Given the description of an element on the screen output the (x, y) to click on. 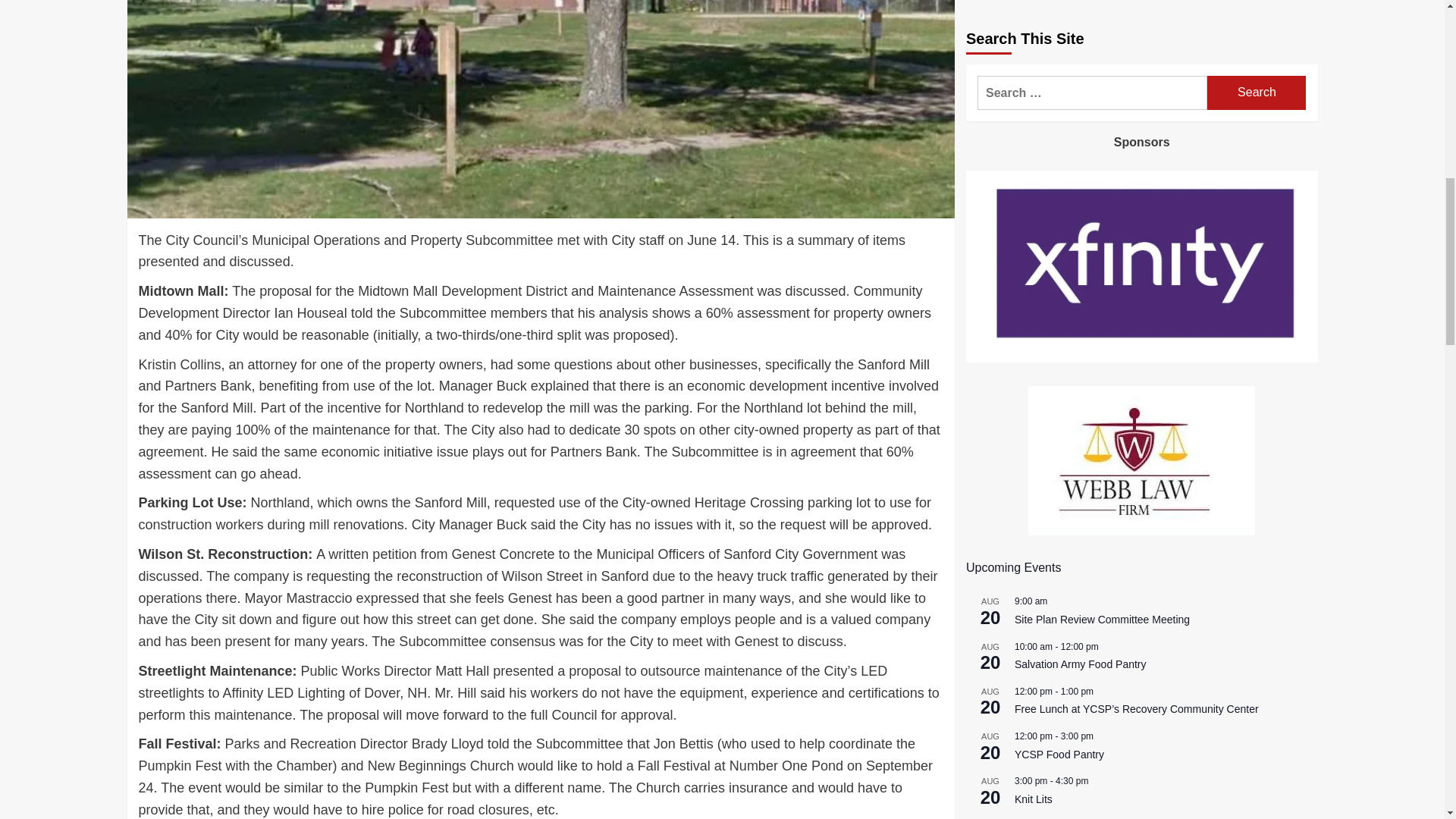
YCSP Food Pantry (1058, 291)
View more events. (1000, 368)
Site Plan Review Committee Meeting (1101, 155)
Knit Lits (1033, 336)
Salvation Army Food Pantry (1080, 201)
